Given the description of an element on the screen output the (x, y) to click on. 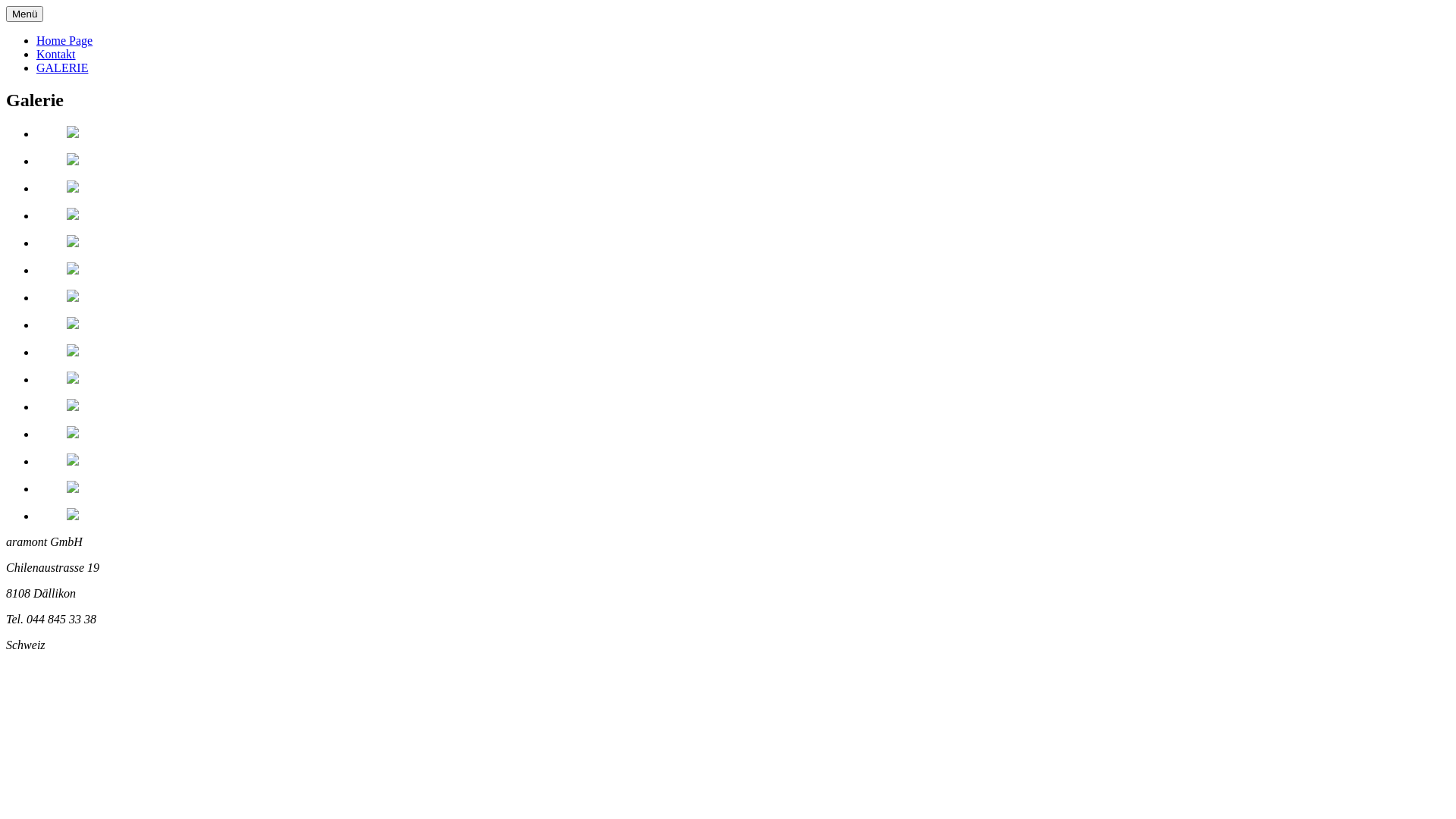
GALERIE Element type: text (61, 67)
Home Page Element type: text (64, 40)
Kontakt Element type: text (55, 53)
